Given the description of an element on the screen output the (x, y) to click on. 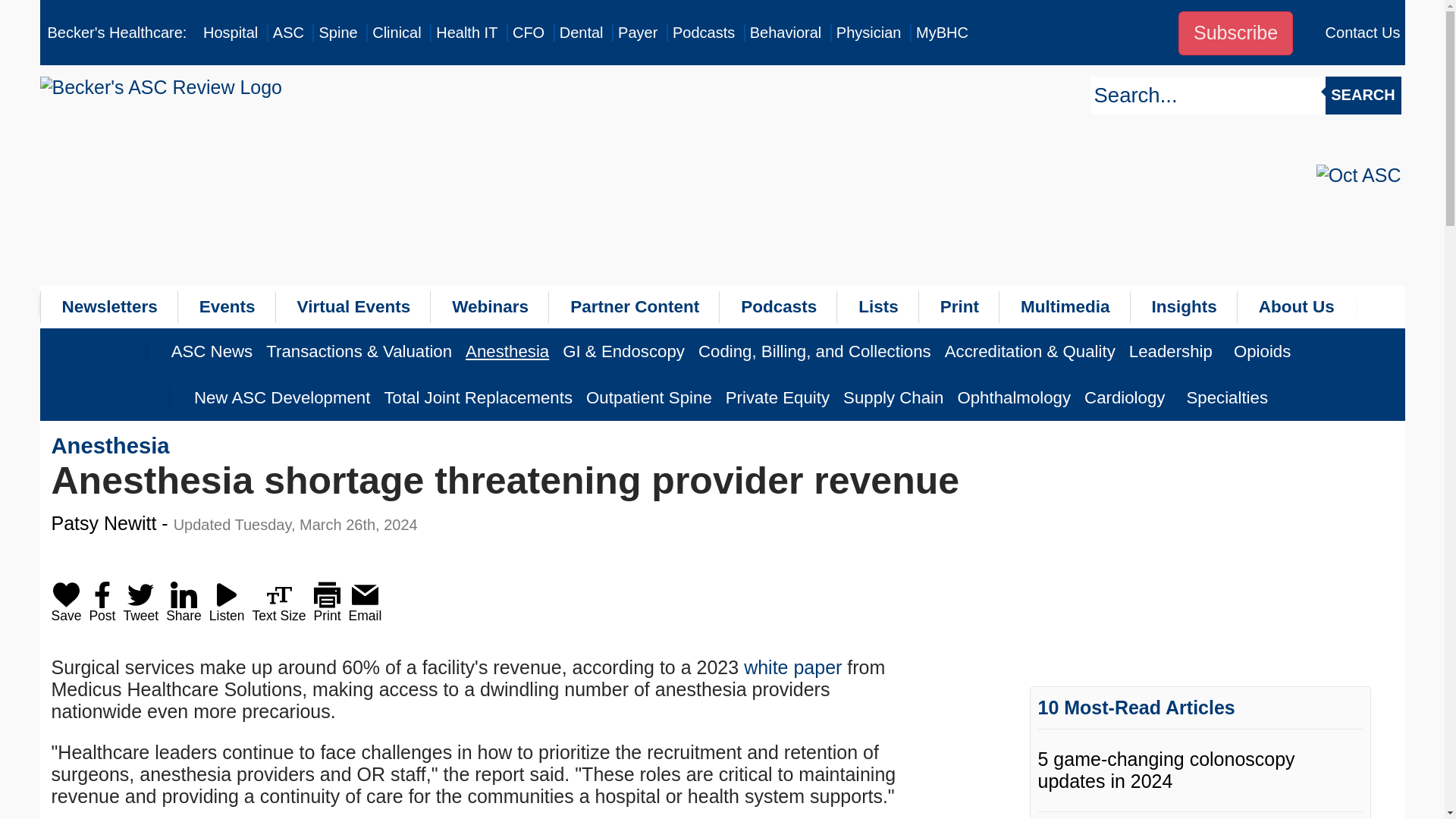
Becker's Payer Issues (637, 32)
Becker's Spine Review (337, 32)
Becker's Behavioral Health (785, 32)
Becker's ASC Review (288, 32)
Becker's Hospital Review (230, 32)
Becker's Dental Review (581, 32)
Becker's CFO (528, 32)
Health IT (466, 32)
CFO (528, 32)
Physician (868, 32)
